Given the description of an element on the screen output the (x, y) to click on. 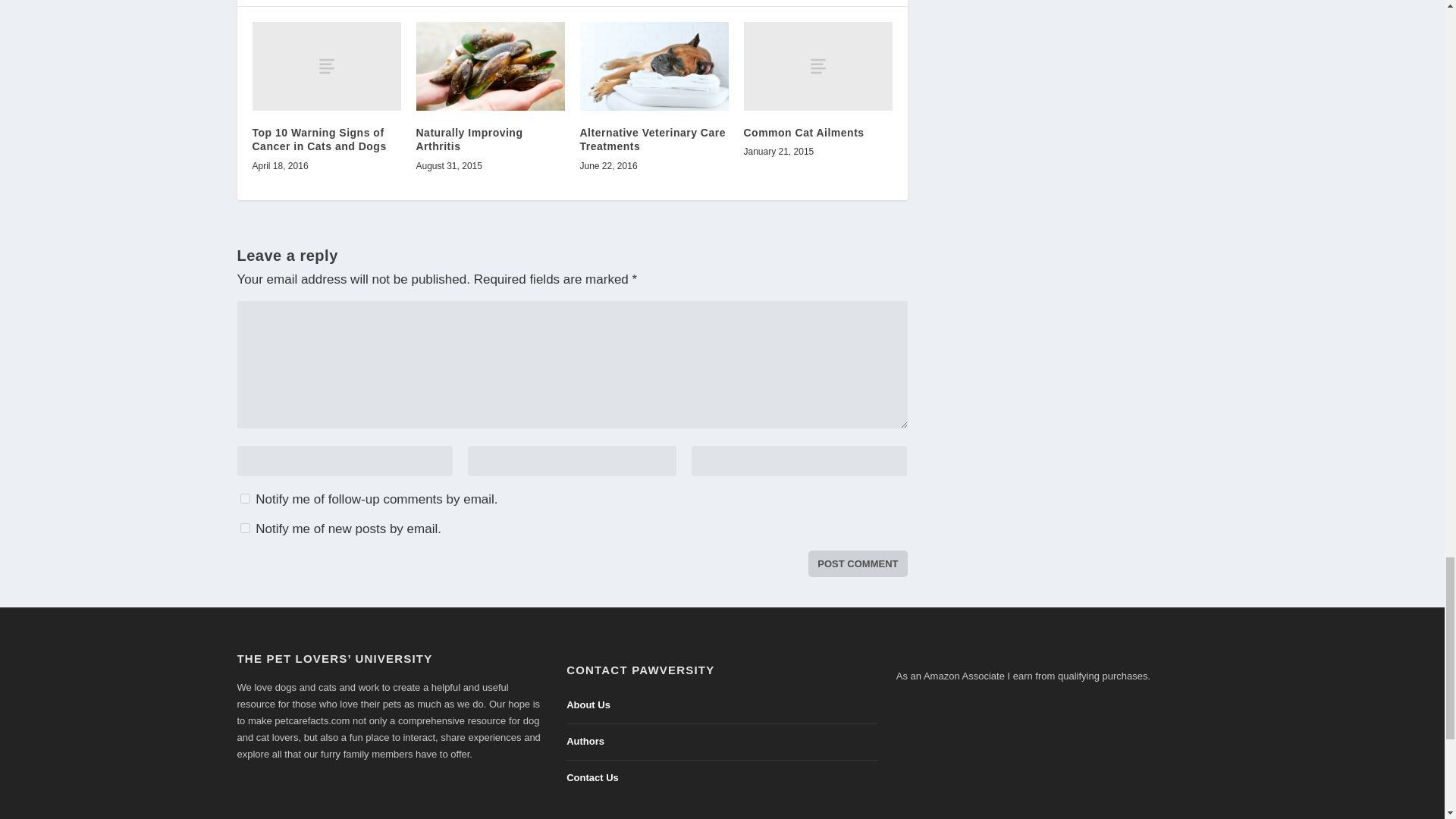
subscribe (244, 528)
Top 10 Warning Signs of Cancer in Cats and Dogs (318, 139)
Post Comment (857, 563)
subscribe (244, 498)
